Given the description of an element on the screen output the (x, y) to click on. 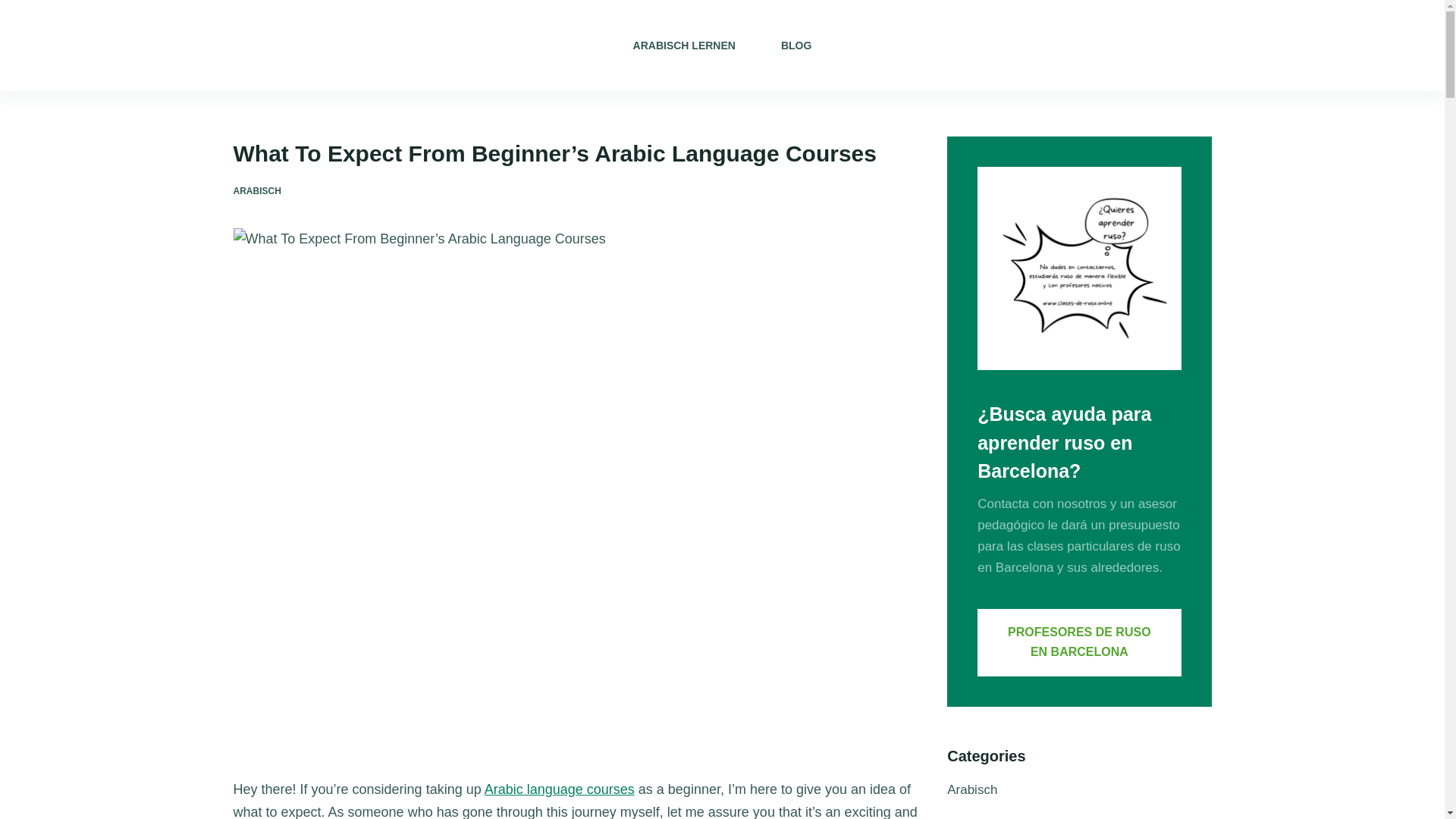
Arabic language courses (559, 789)
ARABISCH LERNEN (684, 45)
PROFESORES DE RUSO EN BARCELONA (1078, 642)
Skip to content (15, 7)
ARABISCH (256, 190)
Profesores de ruso en Barcelona (1078, 642)
